Given the description of an element on the screen output the (x, y) to click on. 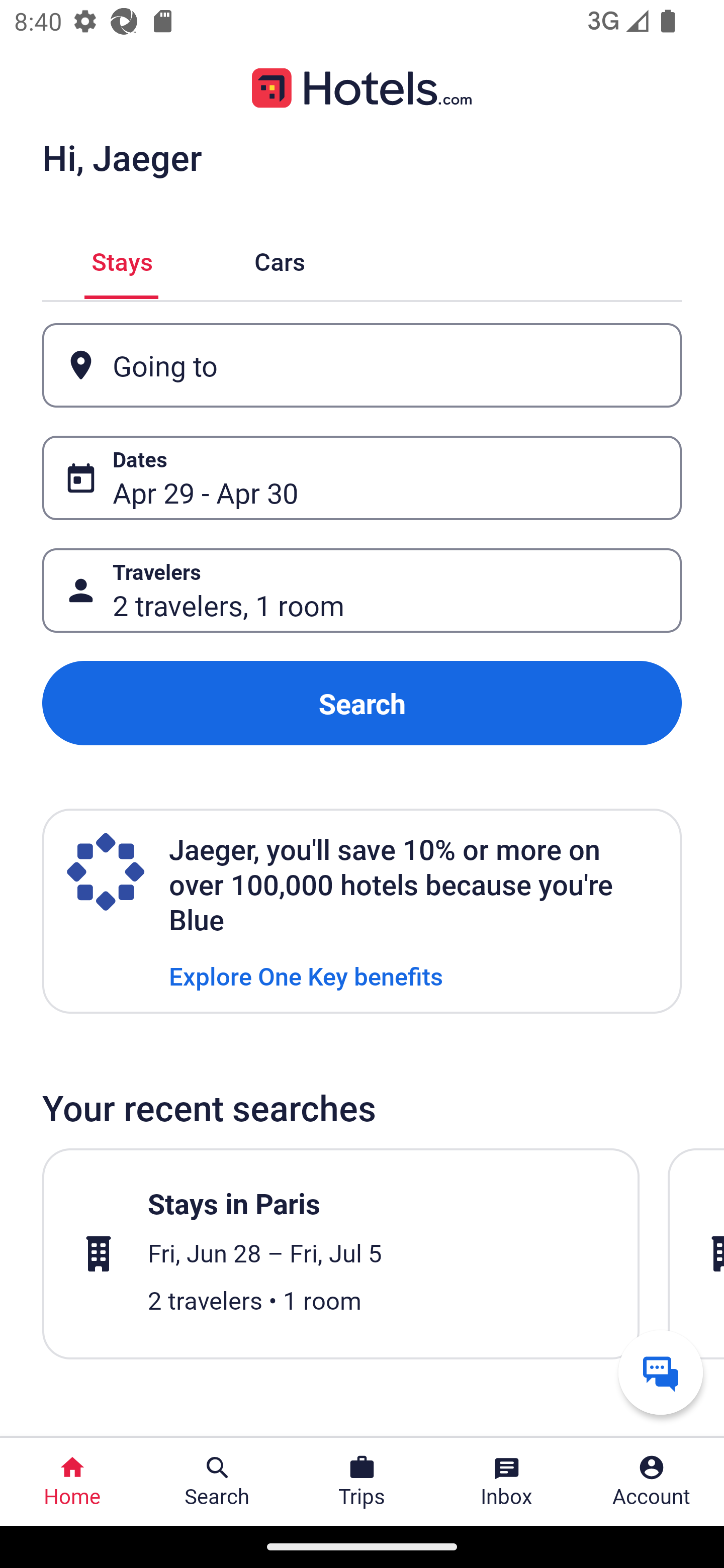
Hi, Jaeger (121, 156)
Cars (279, 259)
Going to Button (361, 365)
Dates Button Apr 29 - Apr 30 (361, 477)
Travelers Button 2 travelers, 1 room (361, 590)
Search (361, 702)
Get help from a virtual agent (660, 1371)
Search Search Button (216, 1481)
Trips Trips Button (361, 1481)
Inbox Inbox Button (506, 1481)
Account Profile. Button (651, 1481)
